Given the description of an element on the screen output the (x, y) to click on. 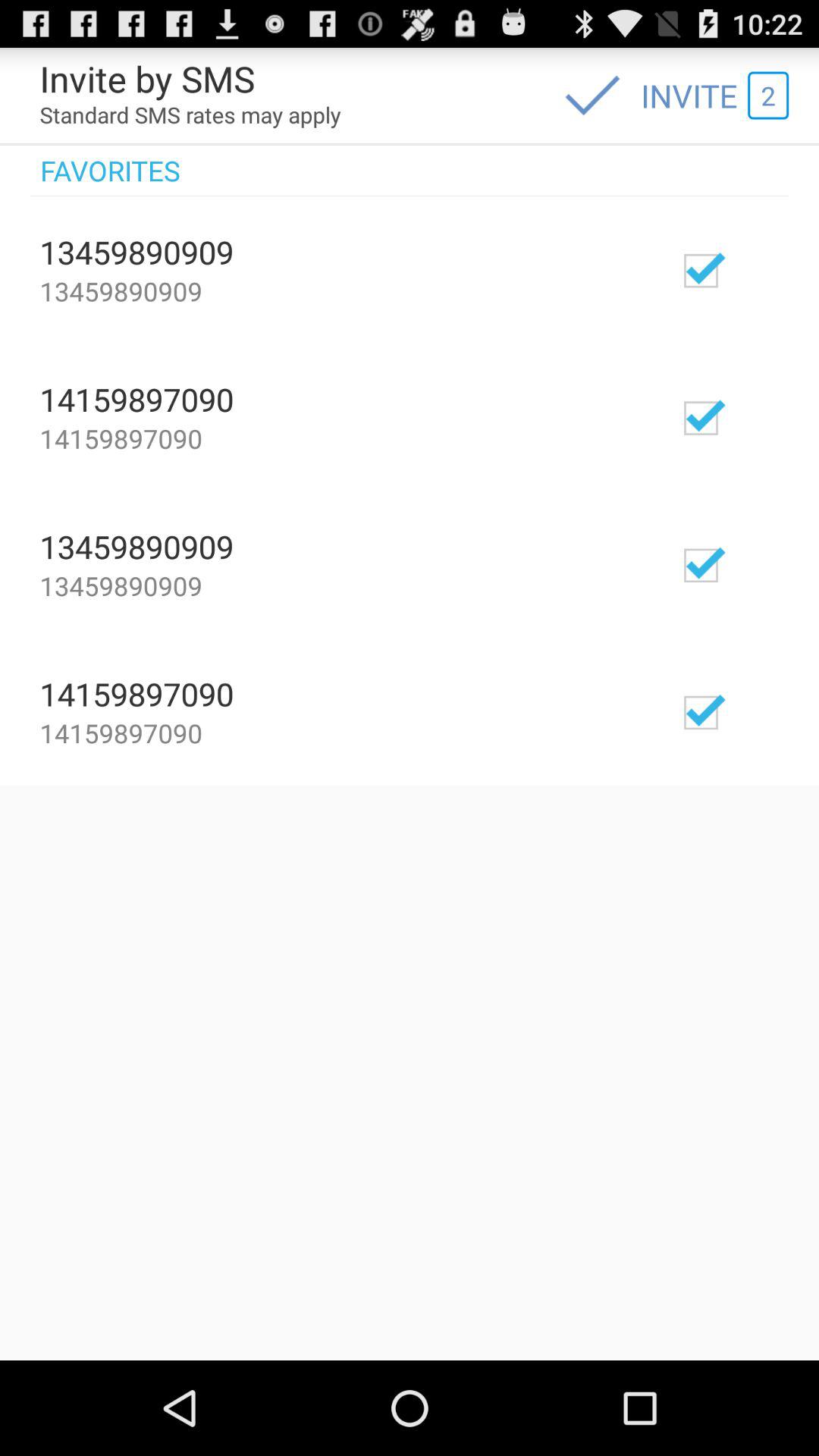
select number (745, 416)
